Given the description of an element on the screen output the (x, y) to click on. 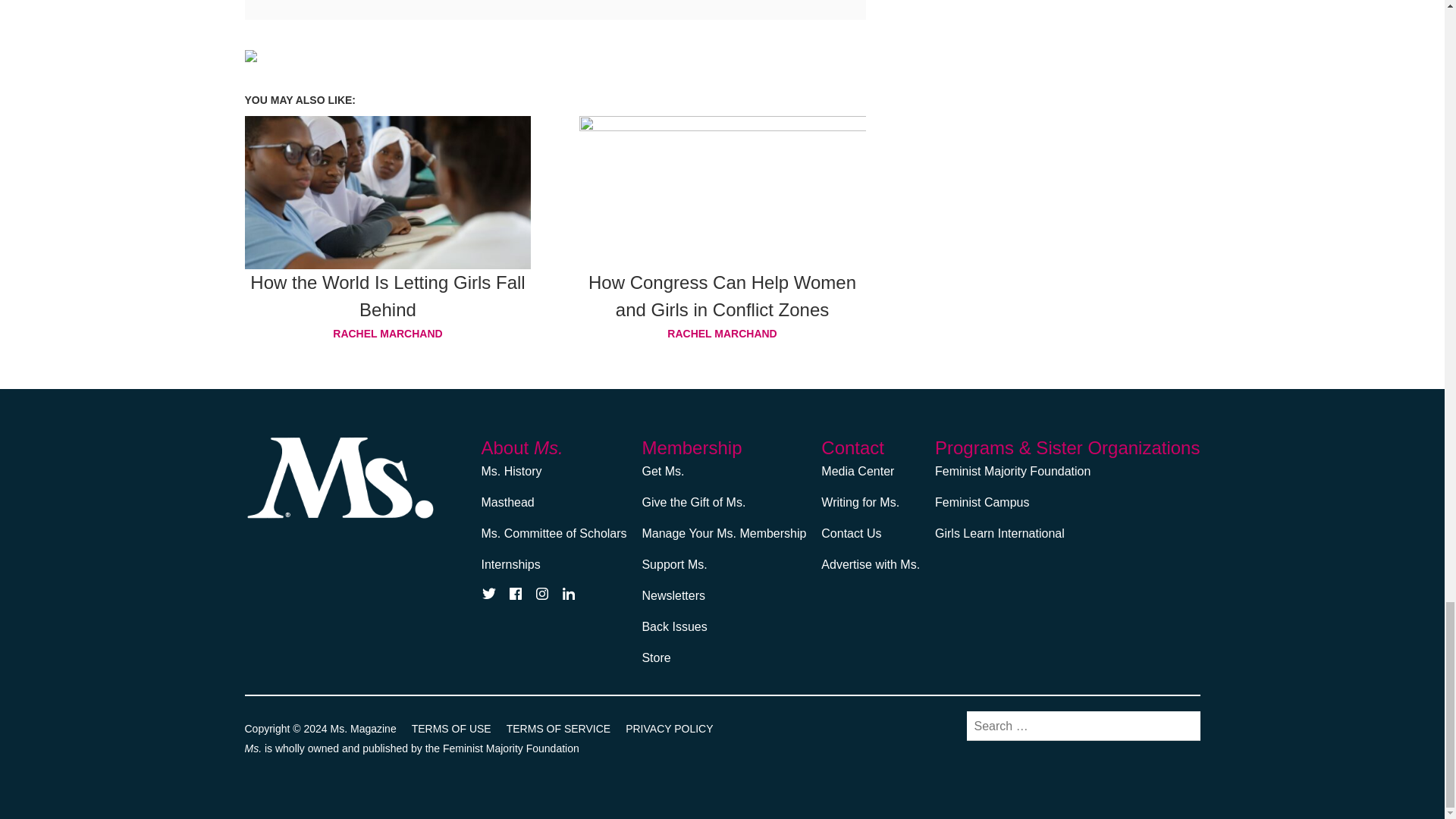
Search (1182, 725)
Permanent Link to How the World Is Letting Girls Fall Behind (387, 295)
Search for: (1082, 726)
Posts by Rachel Marchand (387, 333)
Posts by Rachel Marchand (722, 333)
Search (1182, 725)
